Given the description of an element on the screen output the (x, y) to click on. 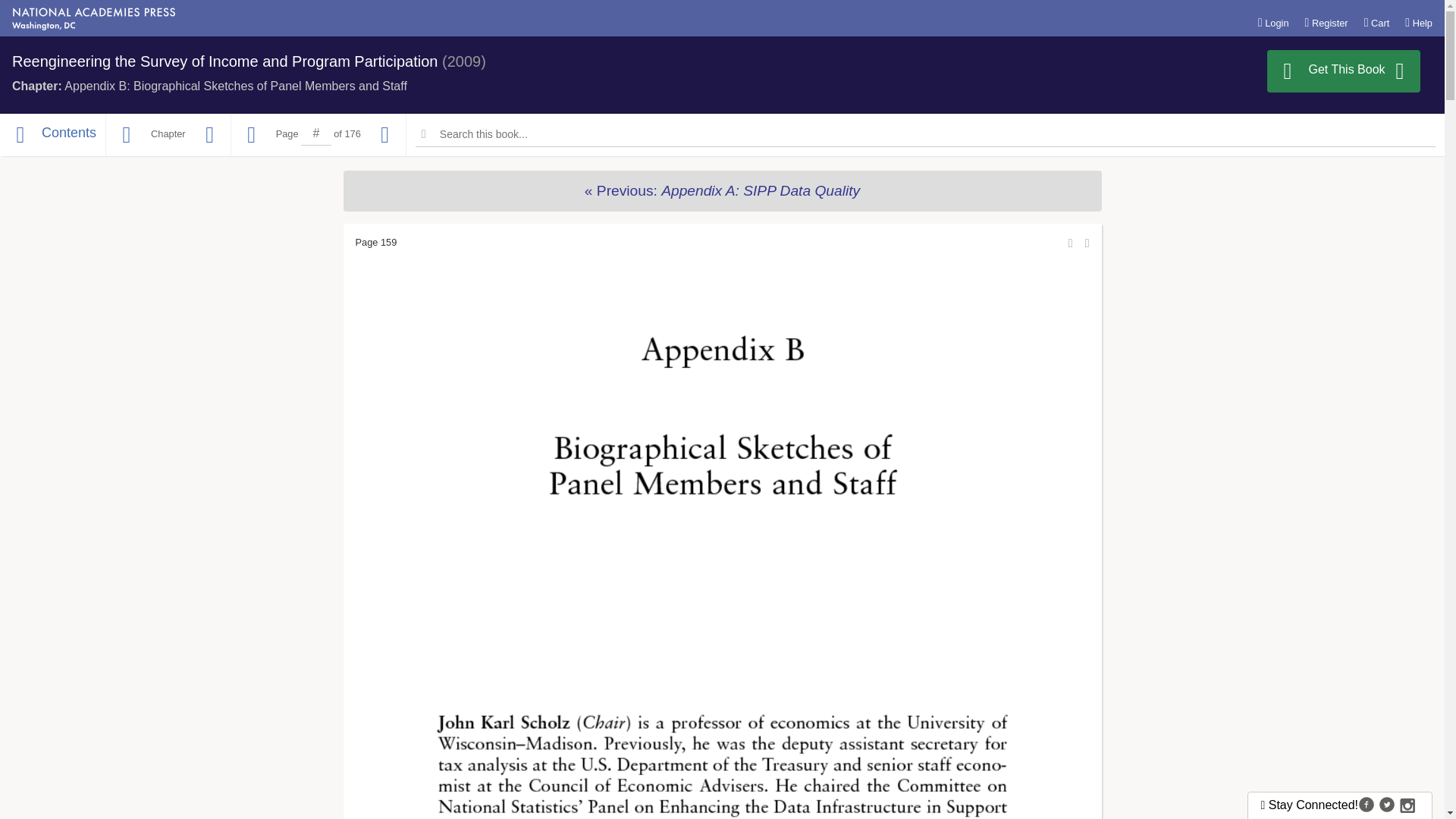
Previous Chapter (126, 134)
Cart (1377, 22)
Register (1326, 22)
Previous Page (251, 134)
Previous Chapter (721, 190)
Login (1272, 22)
Buy or download a copy of this book. (1343, 70)
Reengineering the Survey of Income and Program Participation (224, 61)
Next Chapter (209, 134)
Next Page (385, 134)
